Given the description of an element on the screen output the (x, y) to click on. 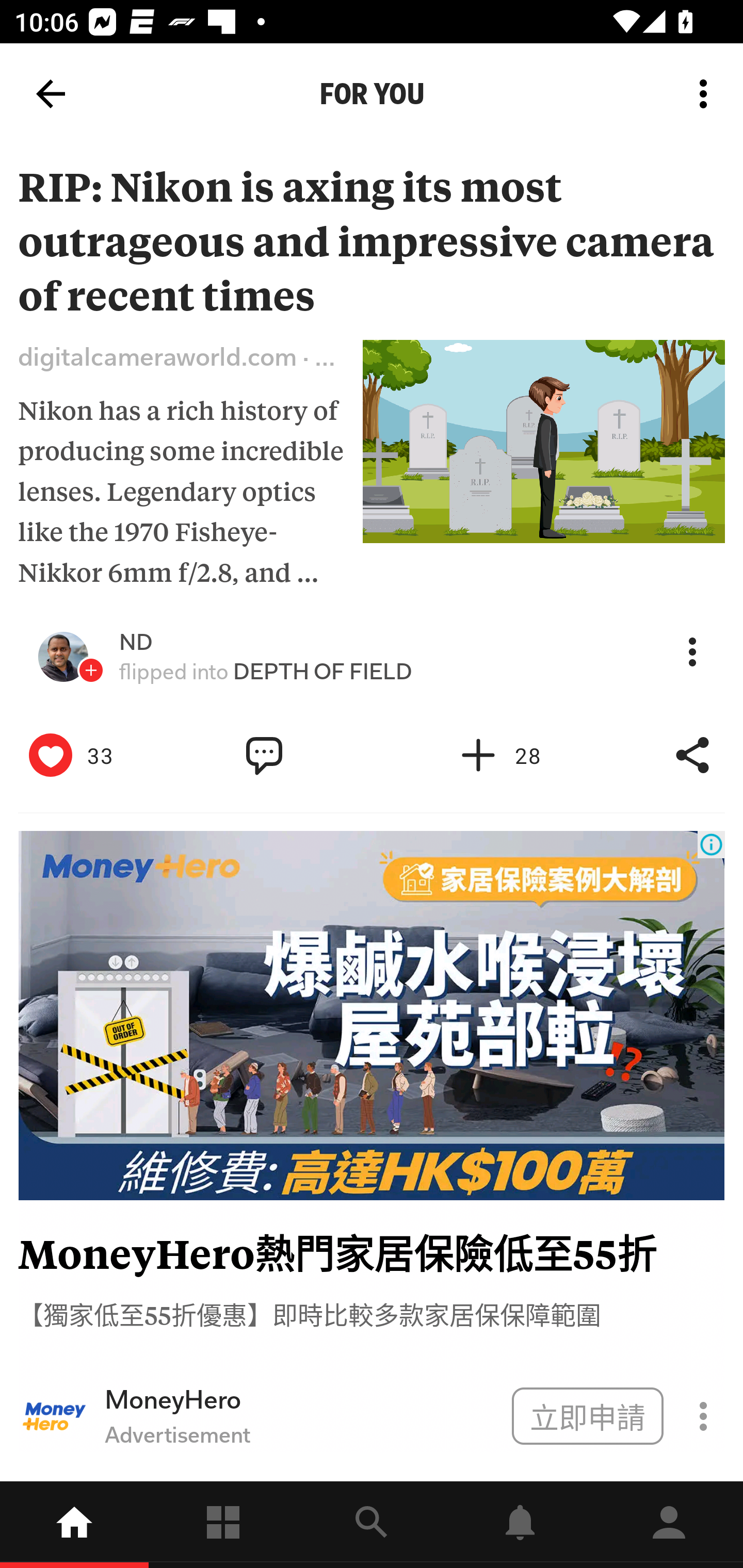
Back (50, 93)
FOR YOU (371, 93)
More options (706, 93)
More (692, 651)
ND (135, 641)
flipped into DEPTH OF FIELD (265, 671)
Like 33 (93, 755)
Write a comment… (307, 755)
Flip into Magazine 28 (521, 755)
Share (692, 755)
Ad Choices Icon (711, 844)
Curated by The Food Desk (163, 882)
【獨家低至55折優惠】即時比較多款家居保保障範圍 (309, 1313)
MoneyHero (300, 1399)
立即申請 (587, 1415)
home (74, 1524)
Following (222, 1524)
explore (371, 1524)
Notifications (519, 1524)
Profile (668, 1524)
